Given the description of an element on the screen output the (x, y) to click on. 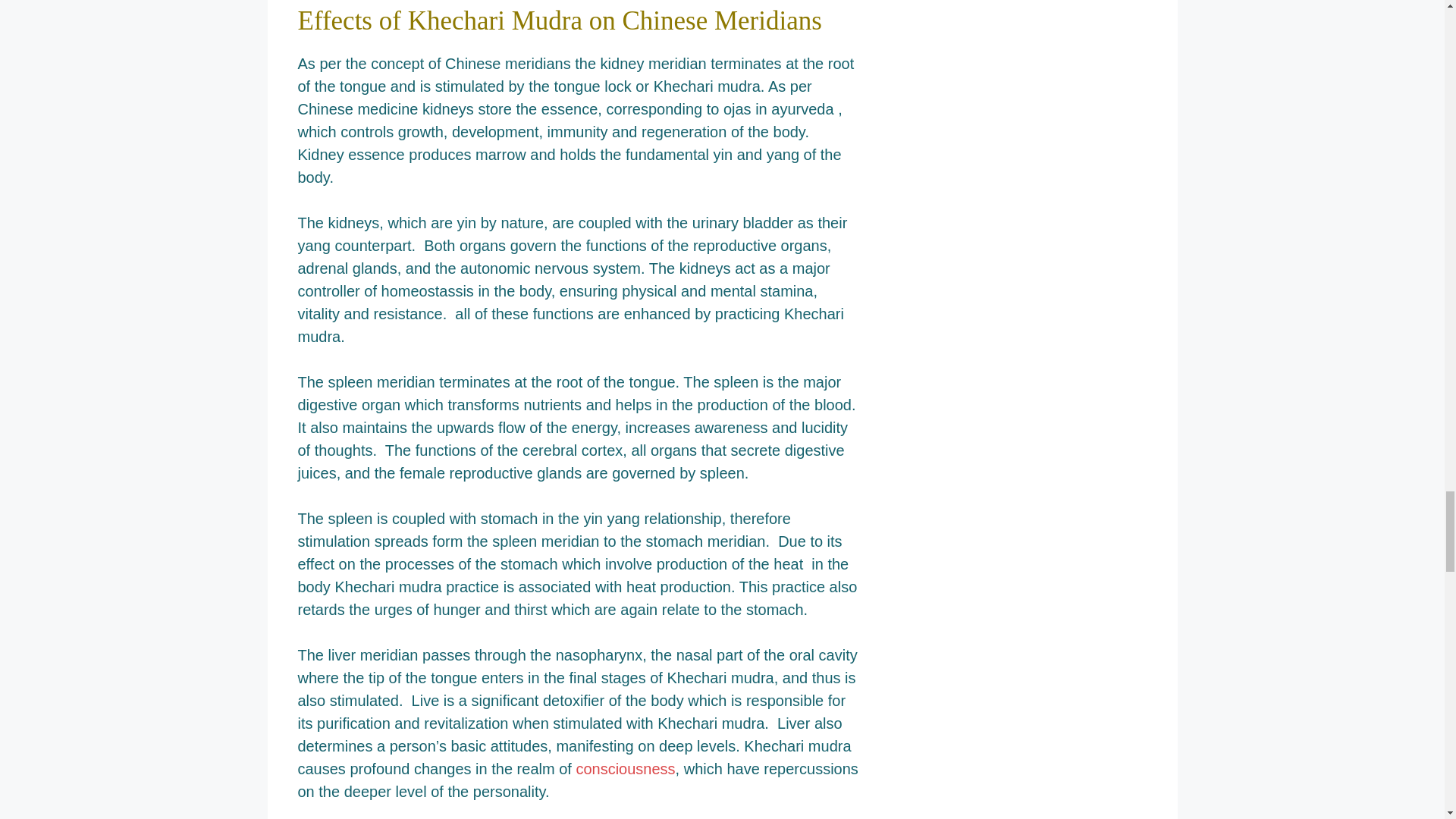
consciousness (625, 768)
